Given the description of an element on the screen output the (x, y) to click on. 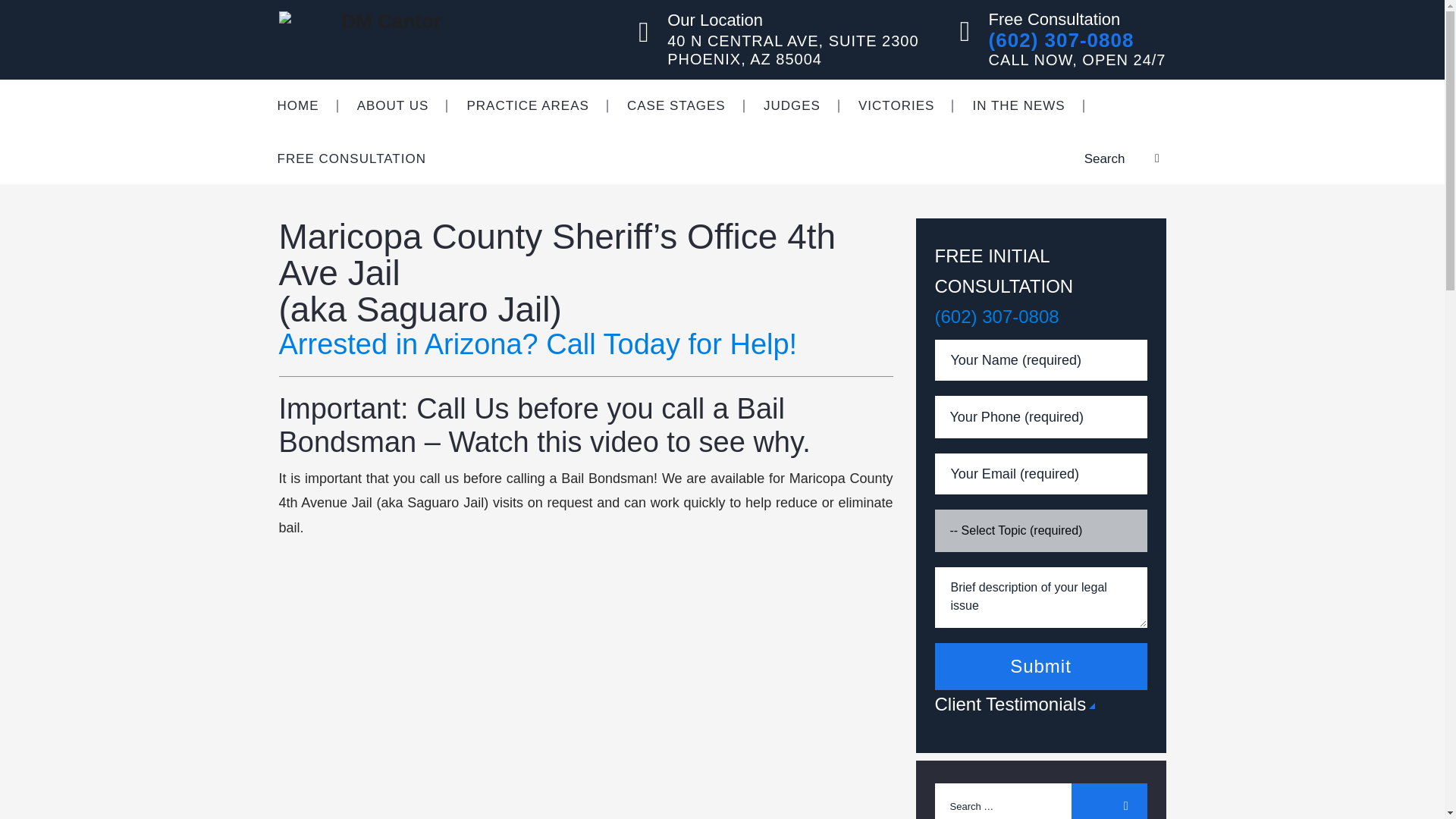
FREE CONSULTATION (350, 158)
IN THE NEWS (1019, 105)
Submit (1040, 666)
VICTORIES (896, 105)
CASE STAGES (676, 105)
Search (1108, 800)
Submit (1040, 666)
PRACTICE AREAS (526, 105)
HOME (297, 105)
Search Button (1139, 158)
JUDGES (791, 105)
ABOUT US (392, 105)
Search (1108, 800)
DM Cantor (385, 39)
Search (1108, 800)
